Given the description of an element on the screen output the (x, y) to click on. 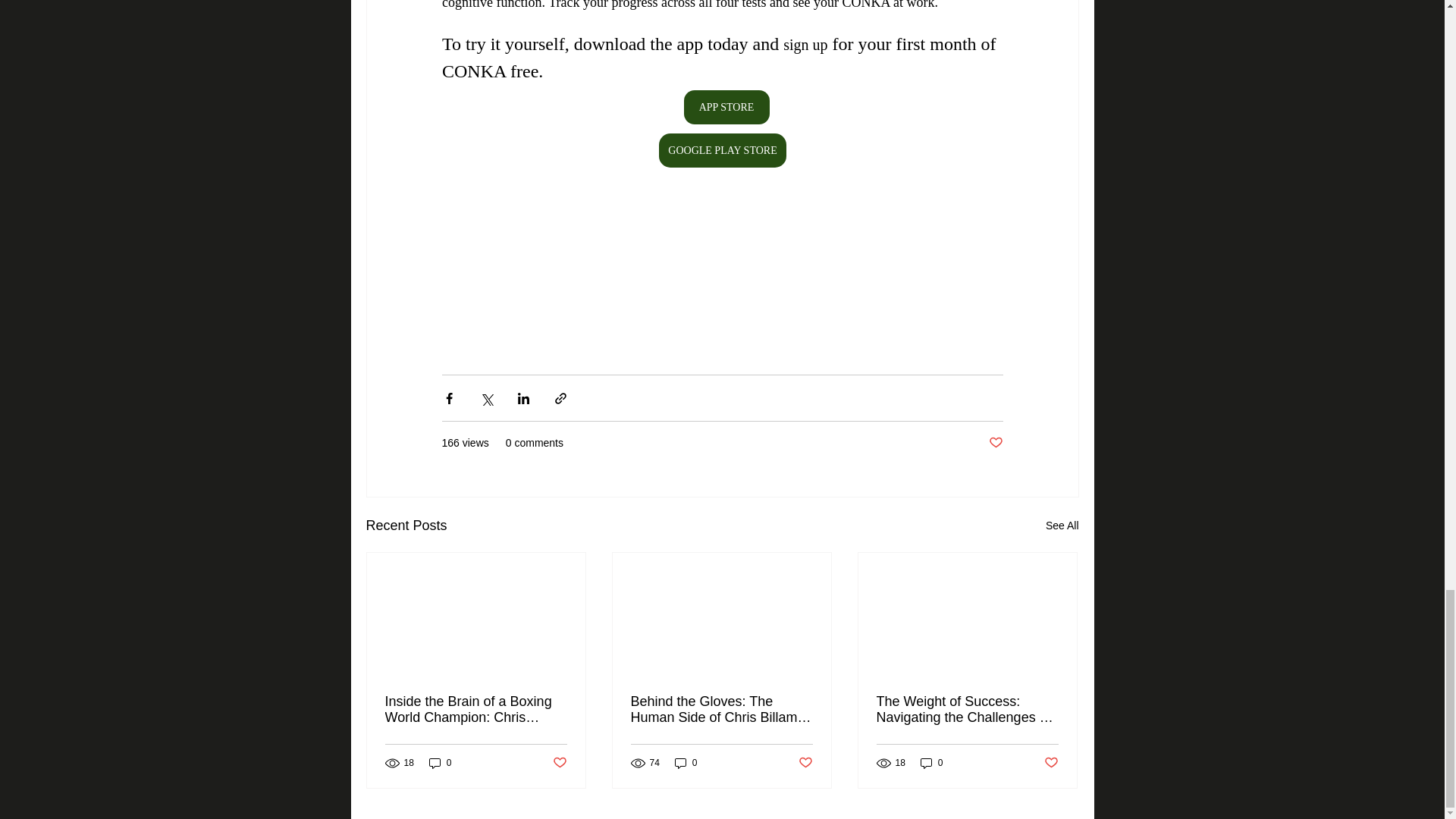
0 (931, 762)
APP STORE (725, 107)
Post not marked as liked (558, 763)
Post not marked as liked (1050, 763)
GOOGLE PLAY STORE (722, 150)
0 (440, 762)
Post not marked as liked (804, 763)
0 (685, 762)
